Given the description of an element on the screen output the (x, y) to click on. 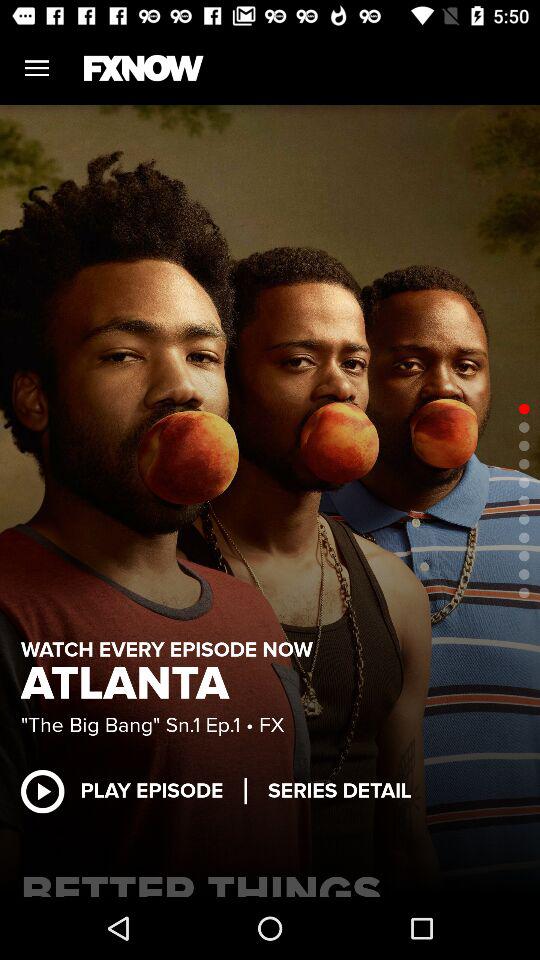
swipe to better things icon (270, 880)
